Given the description of an element on the screen output the (x, y) to click on. 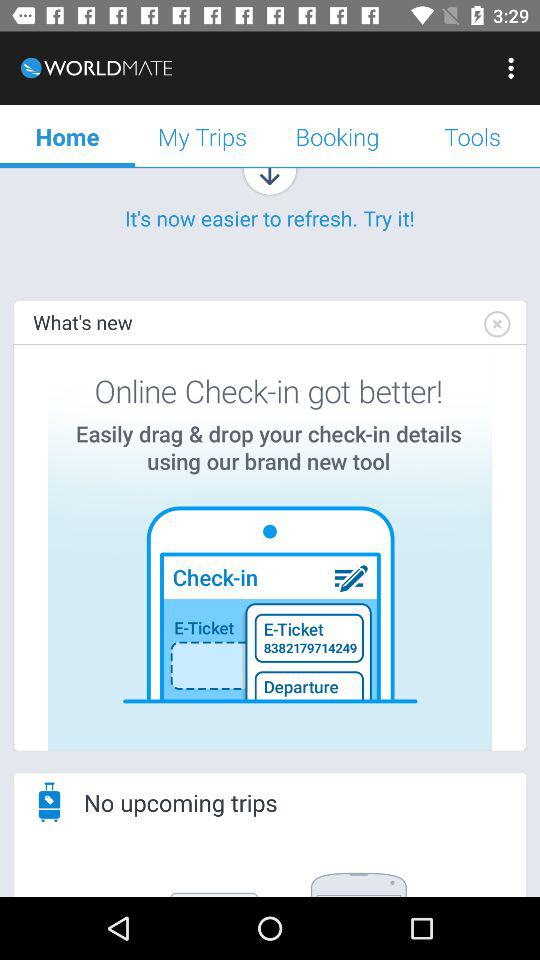
tap icon next to the booking app (202, 136)
